Given the description of an element on the screen output the (x, y) to click on. 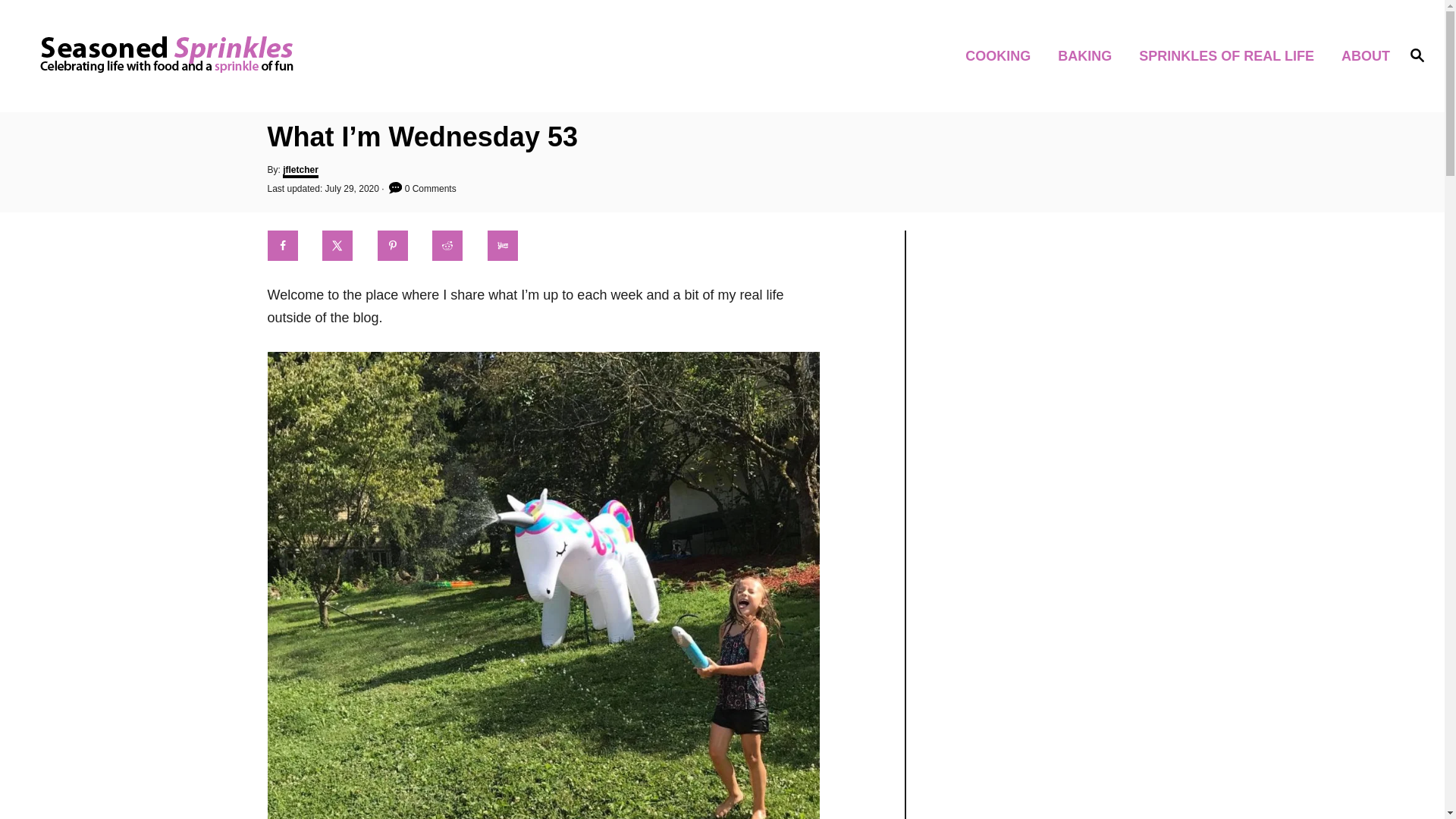
Share on Yummly (509, 245)
Magnifying Glass (1416, 54)
Seasoned Sprinkles (204, 56)
COOKING (1002, 55)
Share on X (343, 245)
BAKING (1088, 55)
Save to Pinterest (399, 245)
Share on Facebook (288, 245)
Share on Reddit (454, 245)
SPRINKLES OF REAL LIFE (1230, 55)
